Given the description of an element on the screen output the (x, y) to click on. 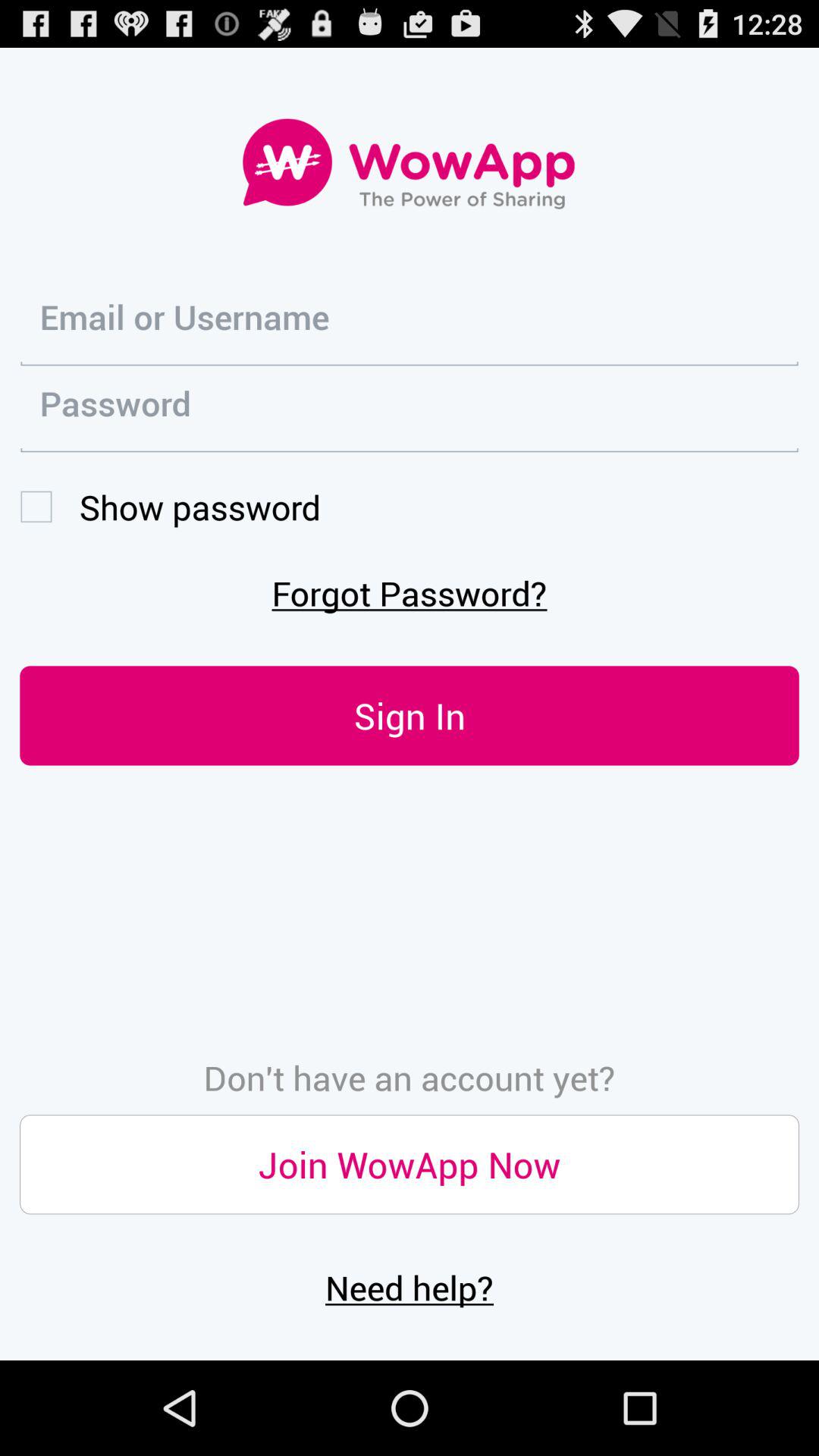
turn on the need help? (409, 1287)
